Given the description of an element on the screen output the (x, y) to click on. 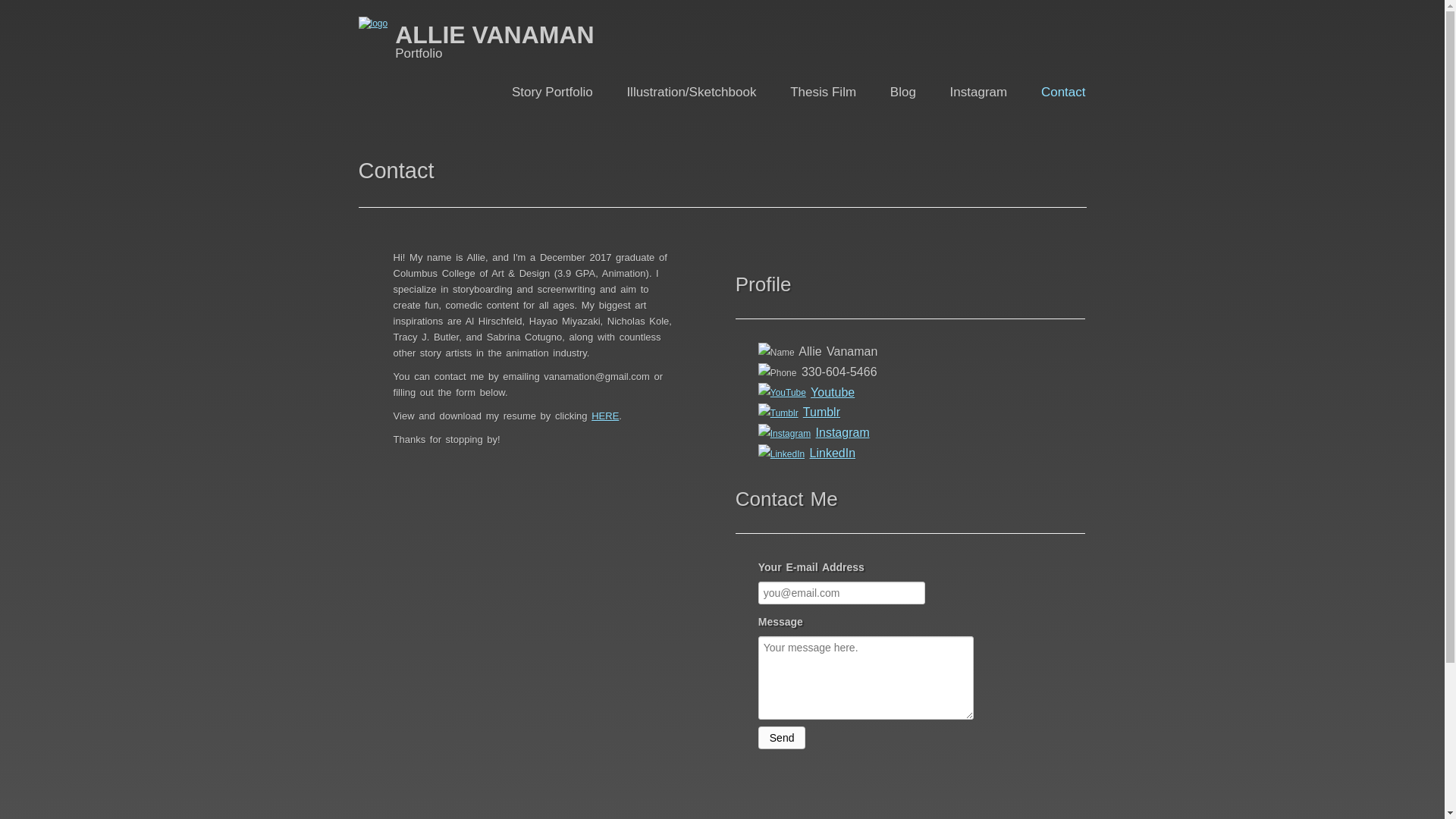
Instagram (978, 92)
Send (782, 737)
Instagram (842, 431)
Tumblr (777, 413)
YouTube (782, 392)
LinkedIn (781, 454)
Youtube (832, 391)
LinkedIn (832, 452)
HERE (604, 415)
ALLIE VANAMAN (494, 30)
